Given the description of an element on the screen output the (x, y) to click on. 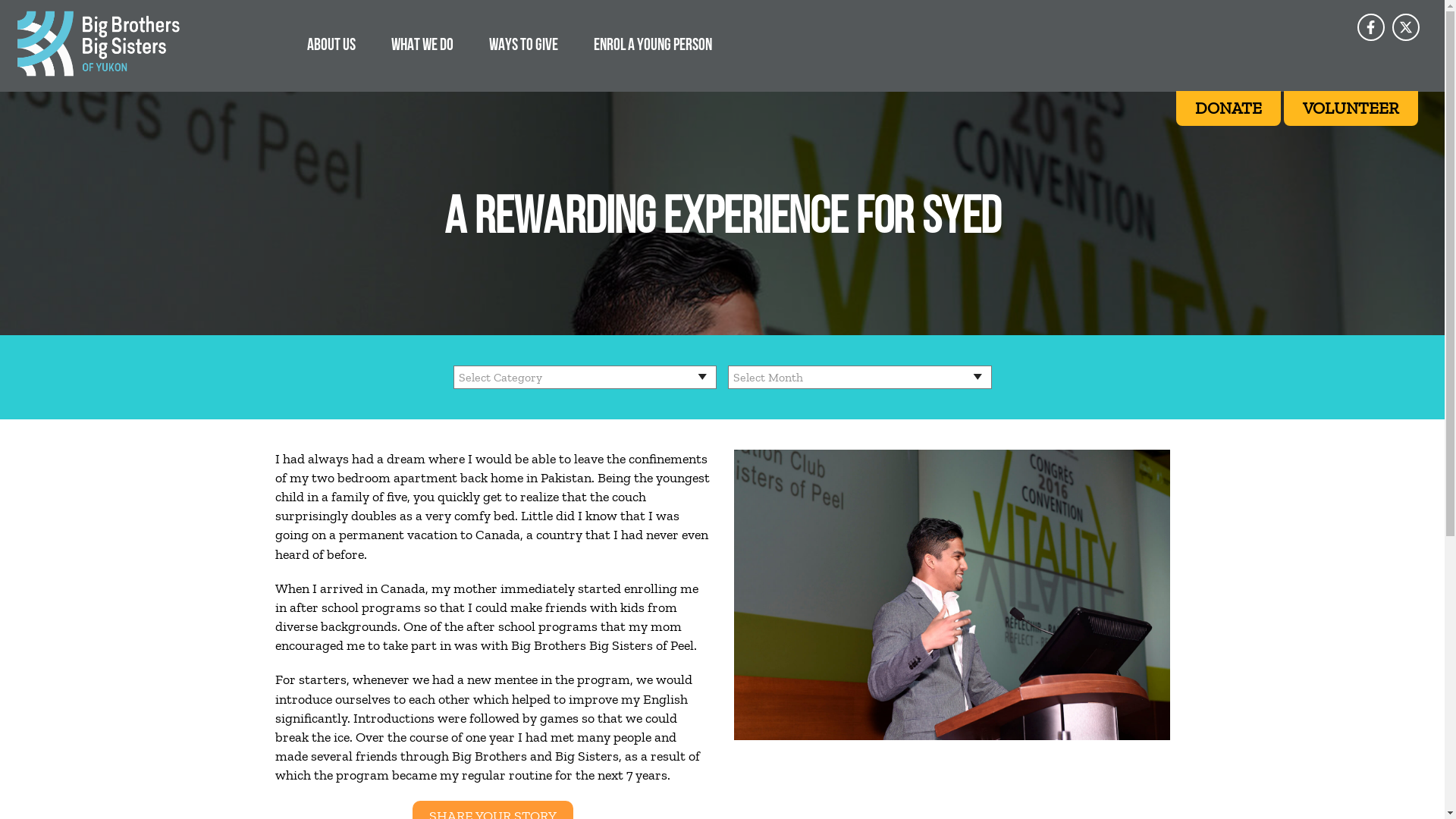
bbbsc_16_a_056-web Element type: hover (952, 594)
ABOUT US Element type: text (330, 44)
WHAT WE DO Element type: text (422, 44)
VOLUNTEER Element type: text (1350, 108)
ENROL A YOUNG PERSON Element type: text (652, 44)
WAYS TO GIVE Element type: text (523, 44)
DONATE Element type: text (1228, 108)
